Given the description of an element on the screen output the (x, y) to click on. 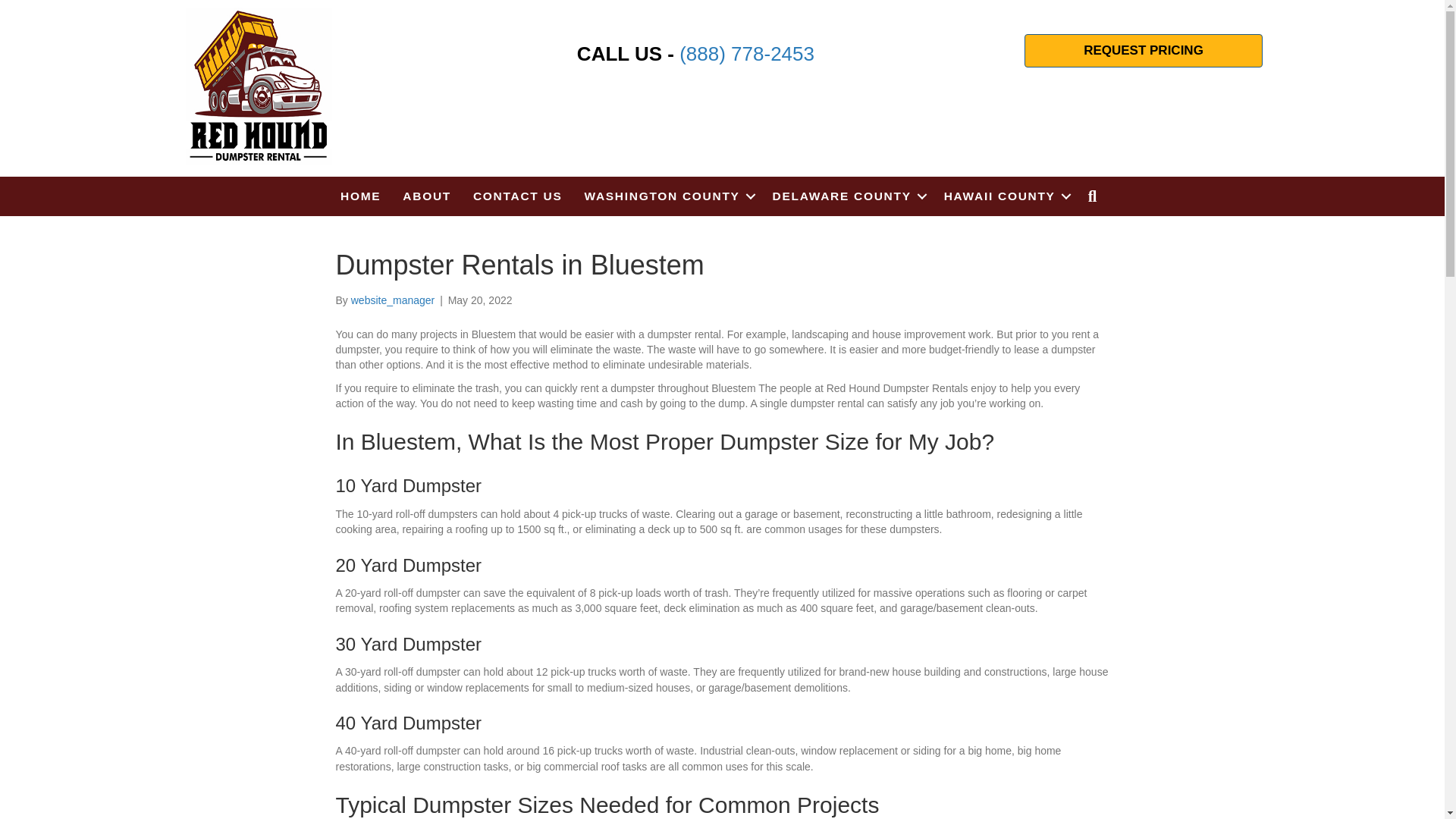
CONTACT US (517, 196)
WASHINGTON COUNTY (666, 196)
ABOUT (426, 196)
HOME (360, 196)
DELAWARE COUNTY (847, 196)
SEARCH (1096, 195)
REQUEST PRICING (1144, 50)
redhounddumpster (258, 86)
HAWAII COUNTY (1005, 196)
